Given the description of an element on the screen output the (x, y) to click on. 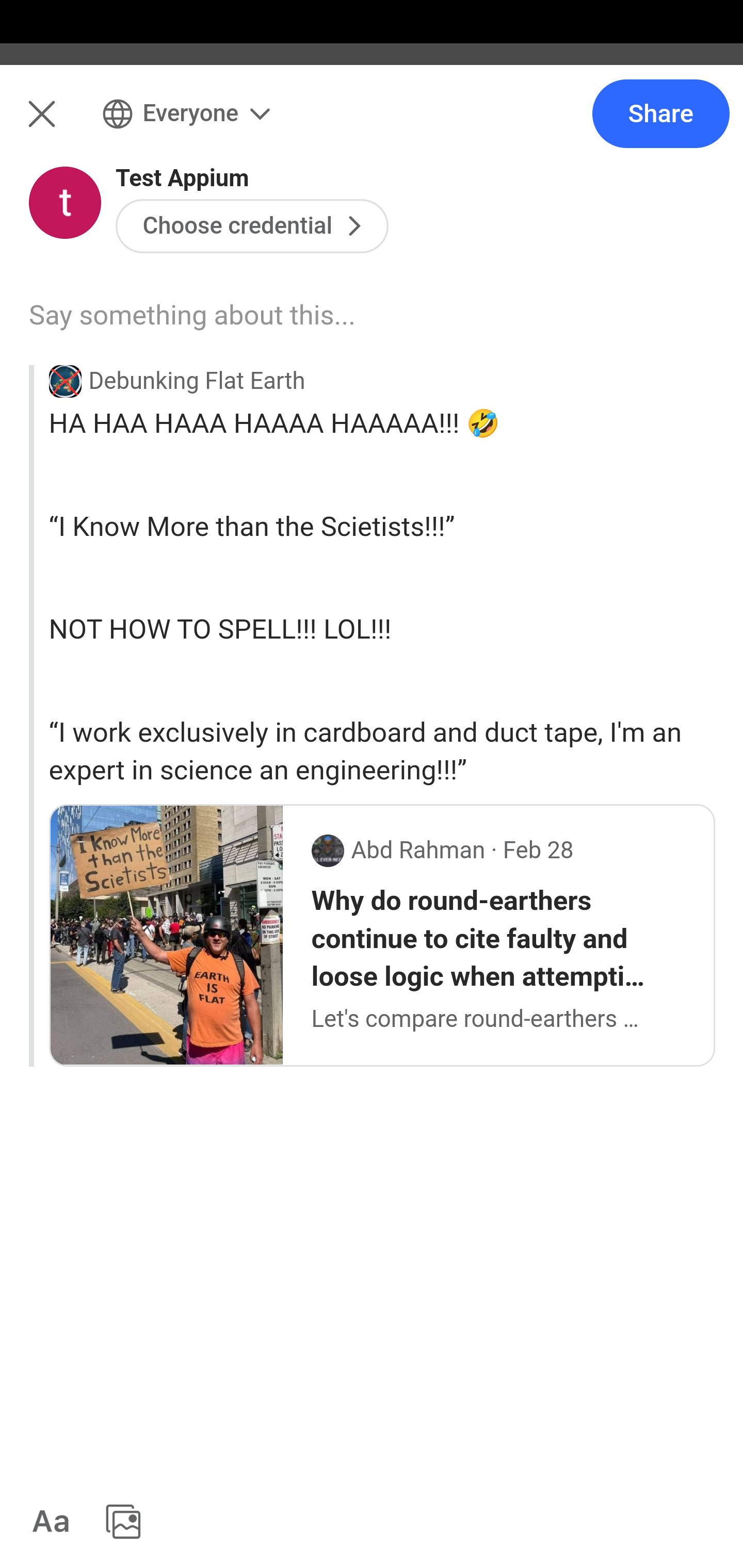
Me Home Search Add (371, 125)
Me (64, 125)
